Given the description of an element on the screen output the (x, y) to click on. 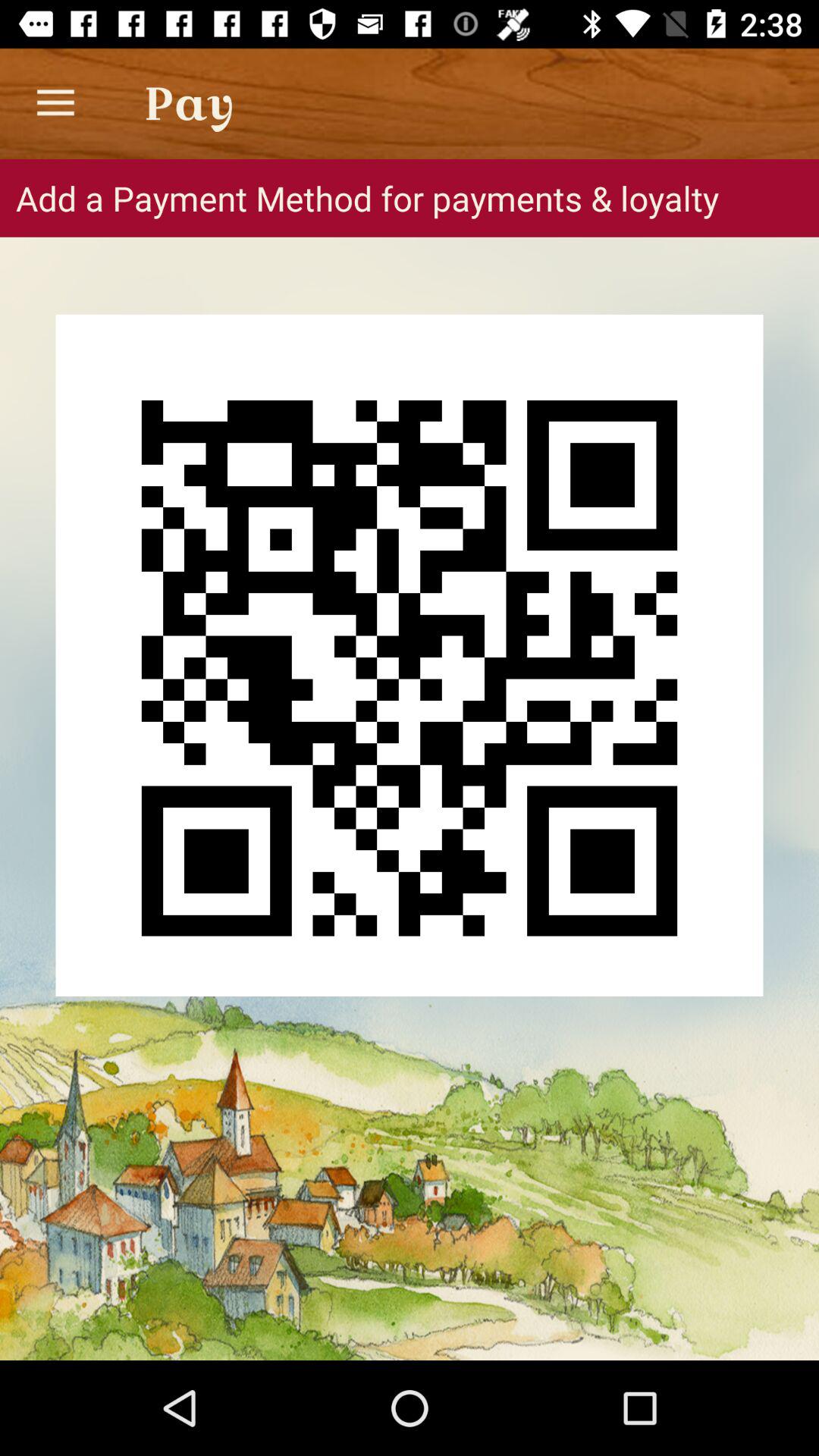
turn off icon next to pay app (55, 103)
